Given the description of an element on the screen output the (x, y) to click on. 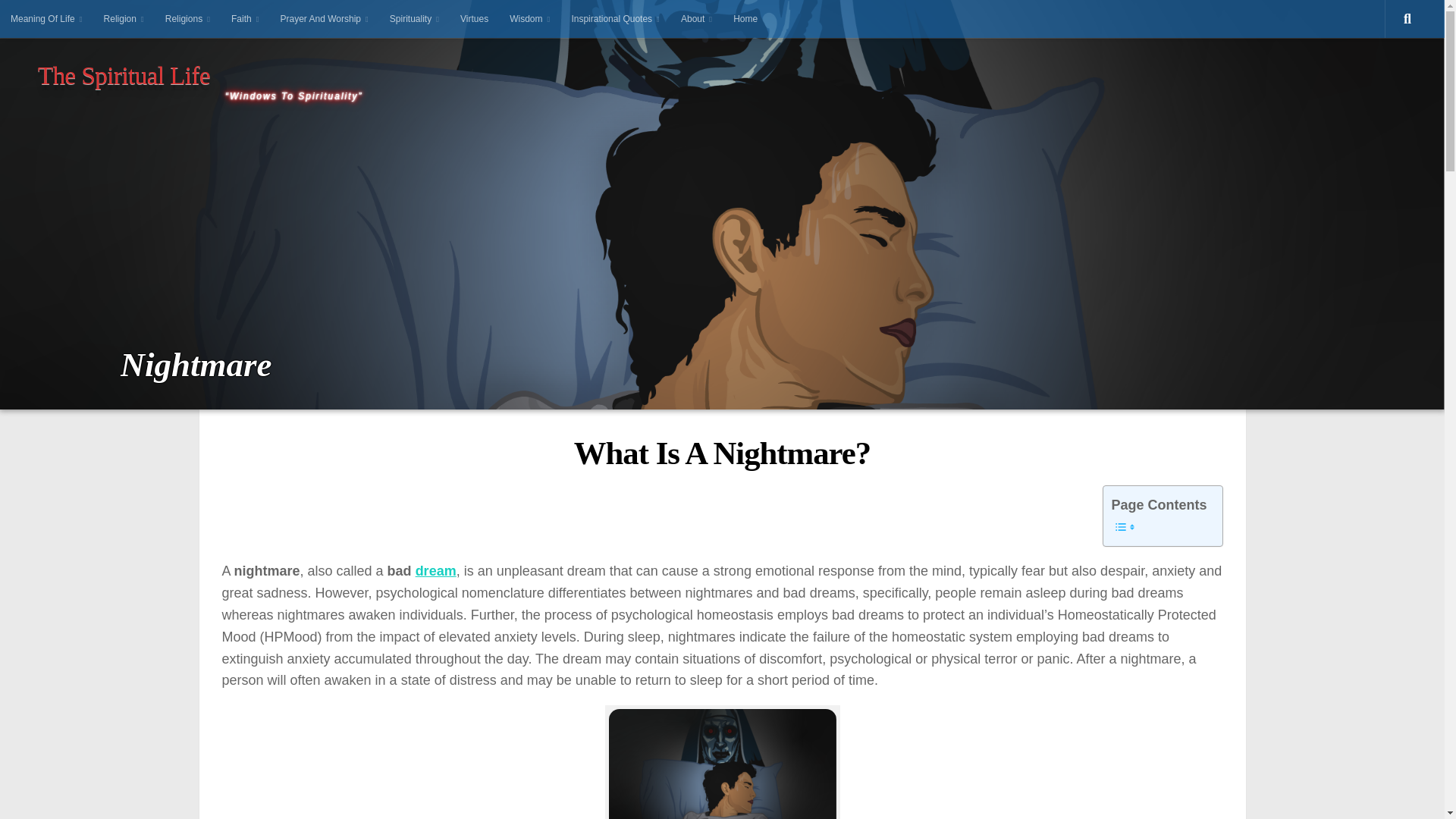
Skip to content (52, 19)
